Given the description of an element on the screen output the (x, y) to click on. 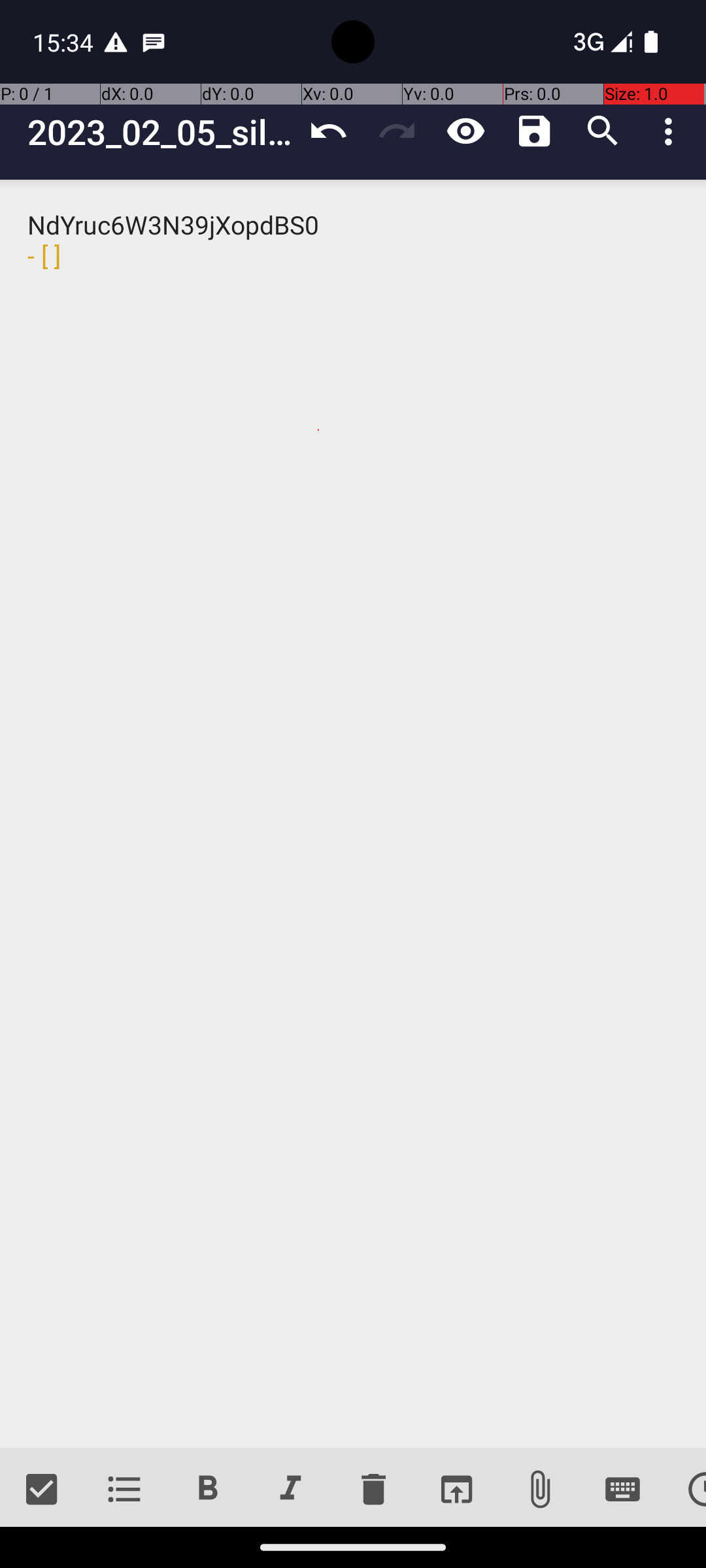
2023_02_05_silly_sun Element type: android.widget.TextView (160, 131)
NdYruc6W3N39jXopdBS0
- [ ]  Element type: android.widget.EditText (353, 813)
